Given the description of an element on the screen output the (x, y) to click on. 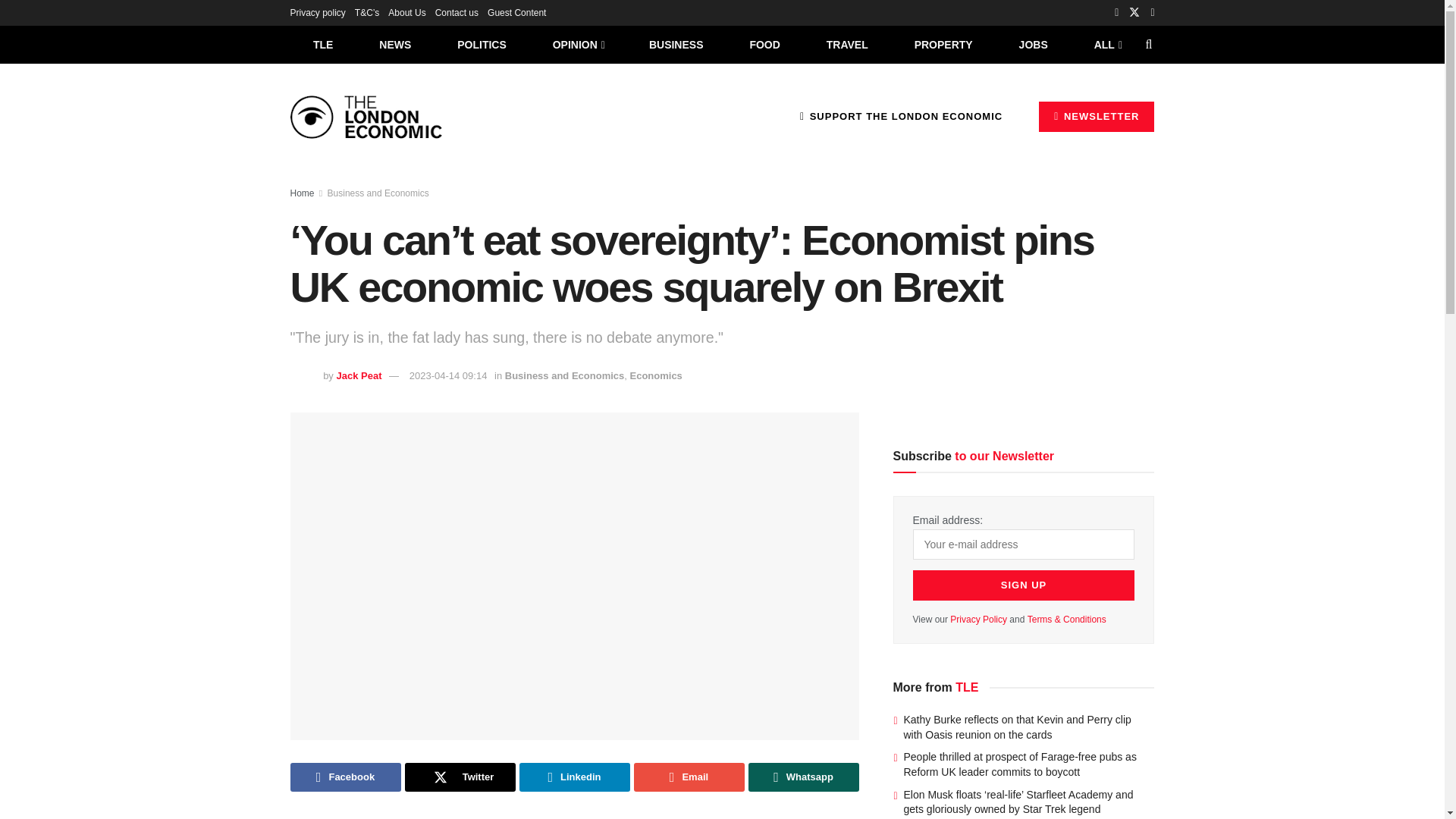
JOBS (1032, 44)
POLITICS (481, 44)
Sign up (1023, 585)
NEWSLETTER (1096, 116)
SUPPORT THE LONDON ECONOMIC (900, 116)
OPINION (577, 44)
BUSINESS (676, 44)
NEWS (394, 44)
PROPERTY (943, 44)
TLE (322, 44)
